Given the description of an element on the screen output the (x, y) to click on. 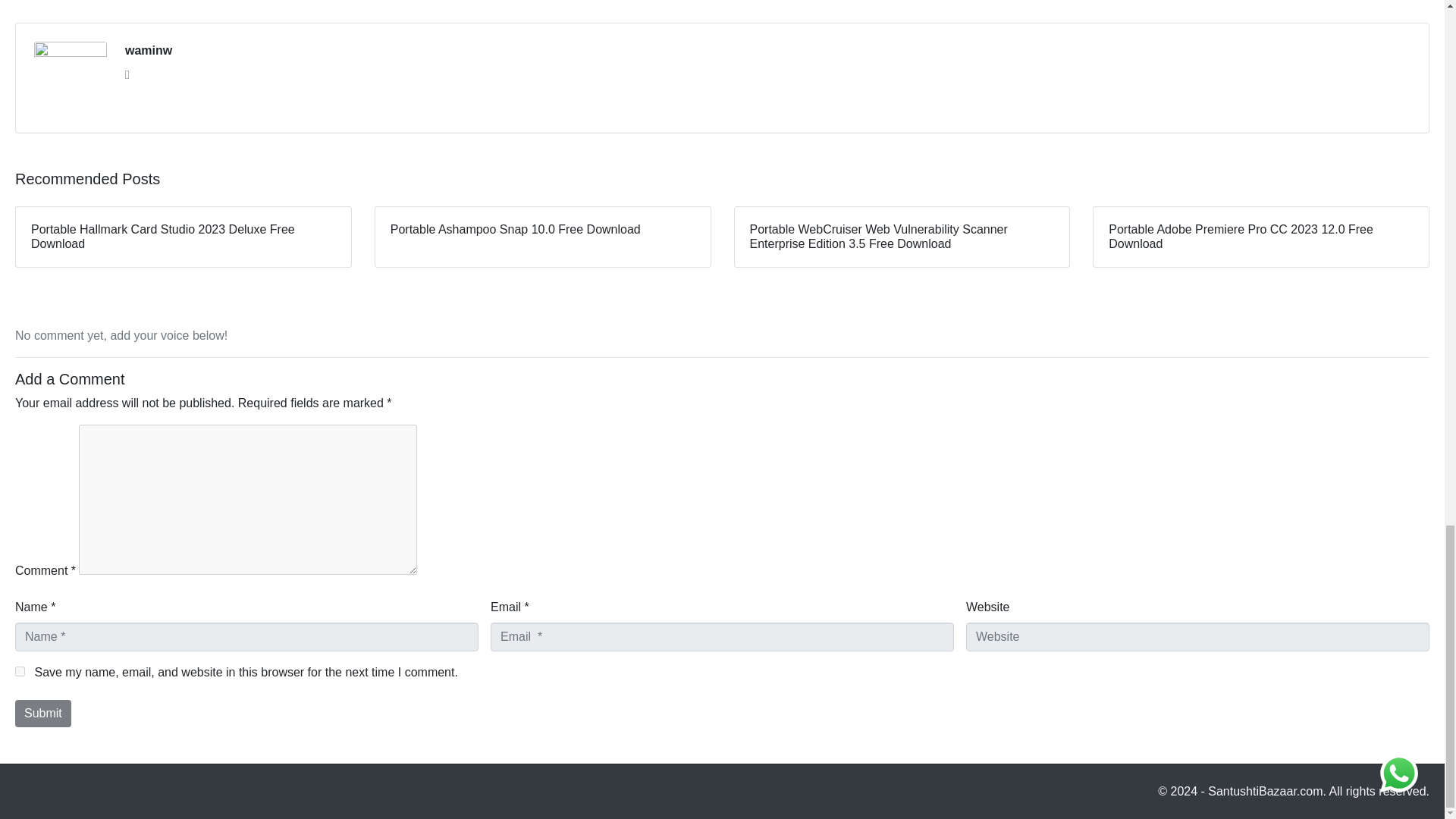
Portable Adobe Premiere Pro CC 2023 12.0 Free Download (1261, 236)
Portable Hallmark Card Studio 2023 Deluxe Free Download (183, 236)
Portable Ashampoo Snap 10.0 Free Download (542, 236)
Submit (42, 713)
waminw (148, 50)
yes (19, 671)
